Given the description of an element on the screen output the (x, y) to click on. 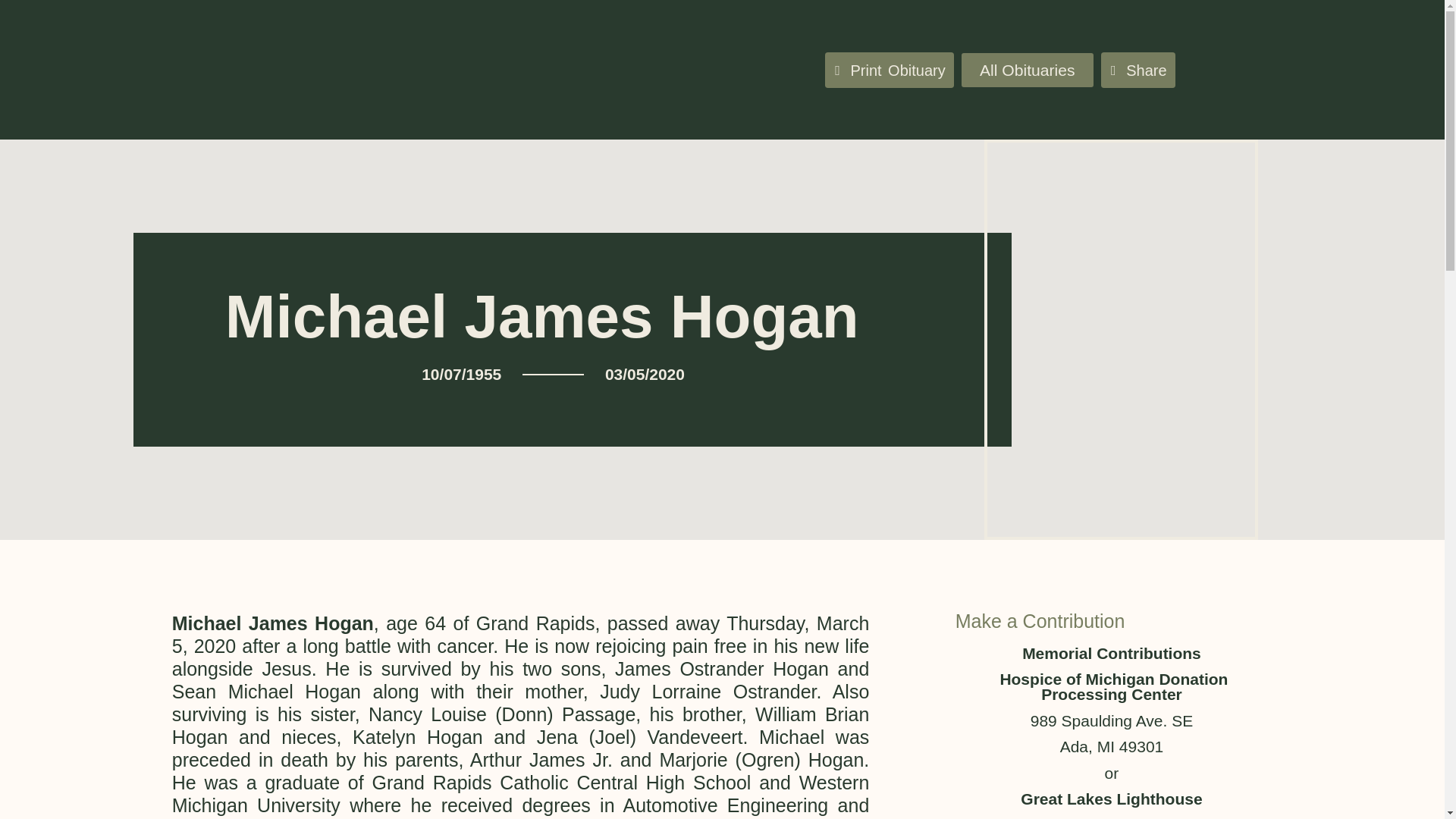
All Obituaries (1026, 69)
